Given the description of an element on the screen output the (x, y) to click on. 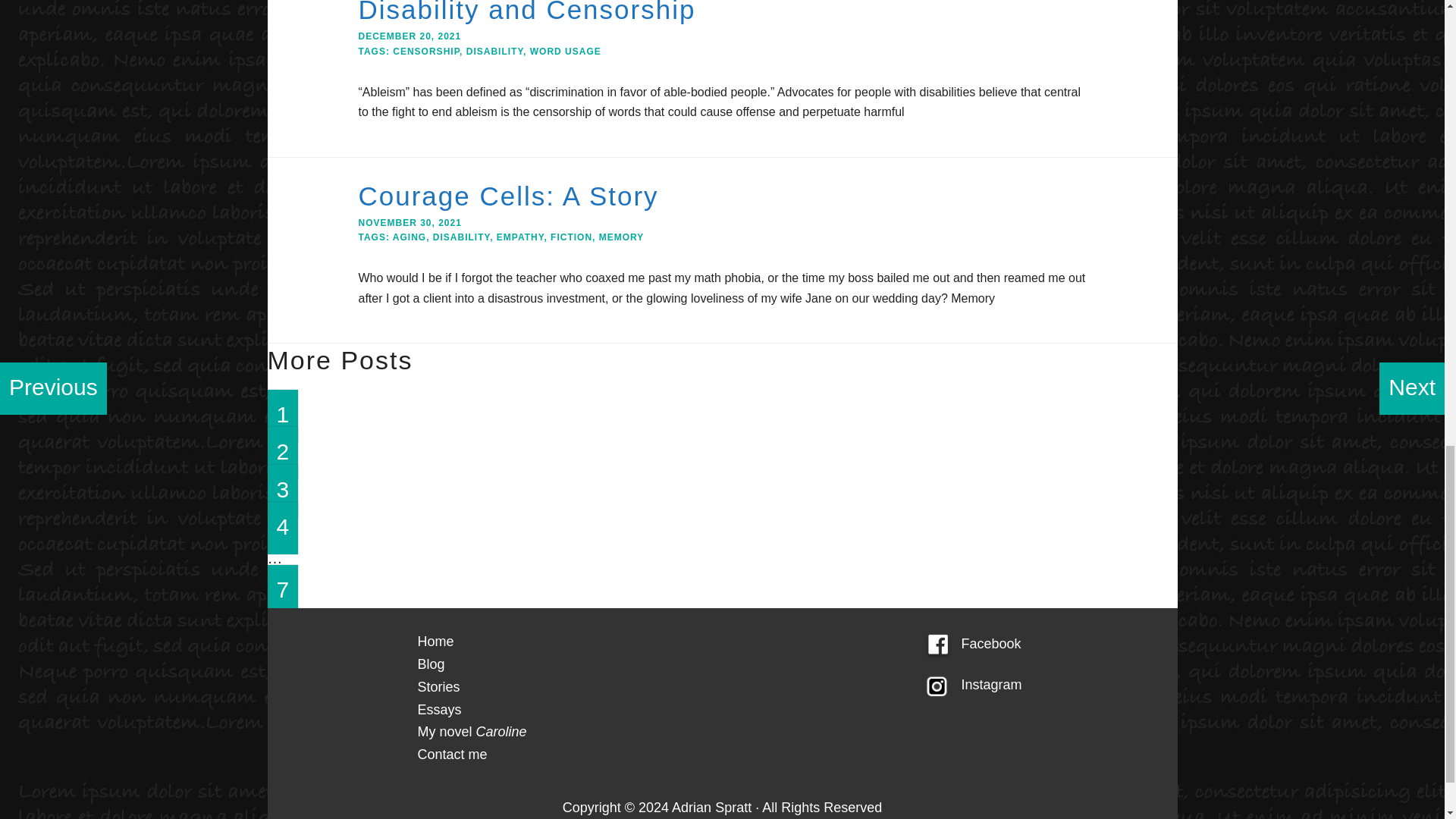
DISABILITY (460, 236)
WORD USAGE (565, 50)
MEMORY (621, 236)
CENSORSHIP (426, 50)
DISABILITY (493, 50)
FICTION (571, 236)
Disability and Censorship (526, 12)
Courage Cells: A Story (508, 195)
AGING (409, 236)
EMPATHY (520, 236)
